Given the description of an element on the screen output the (x, y) to click on. 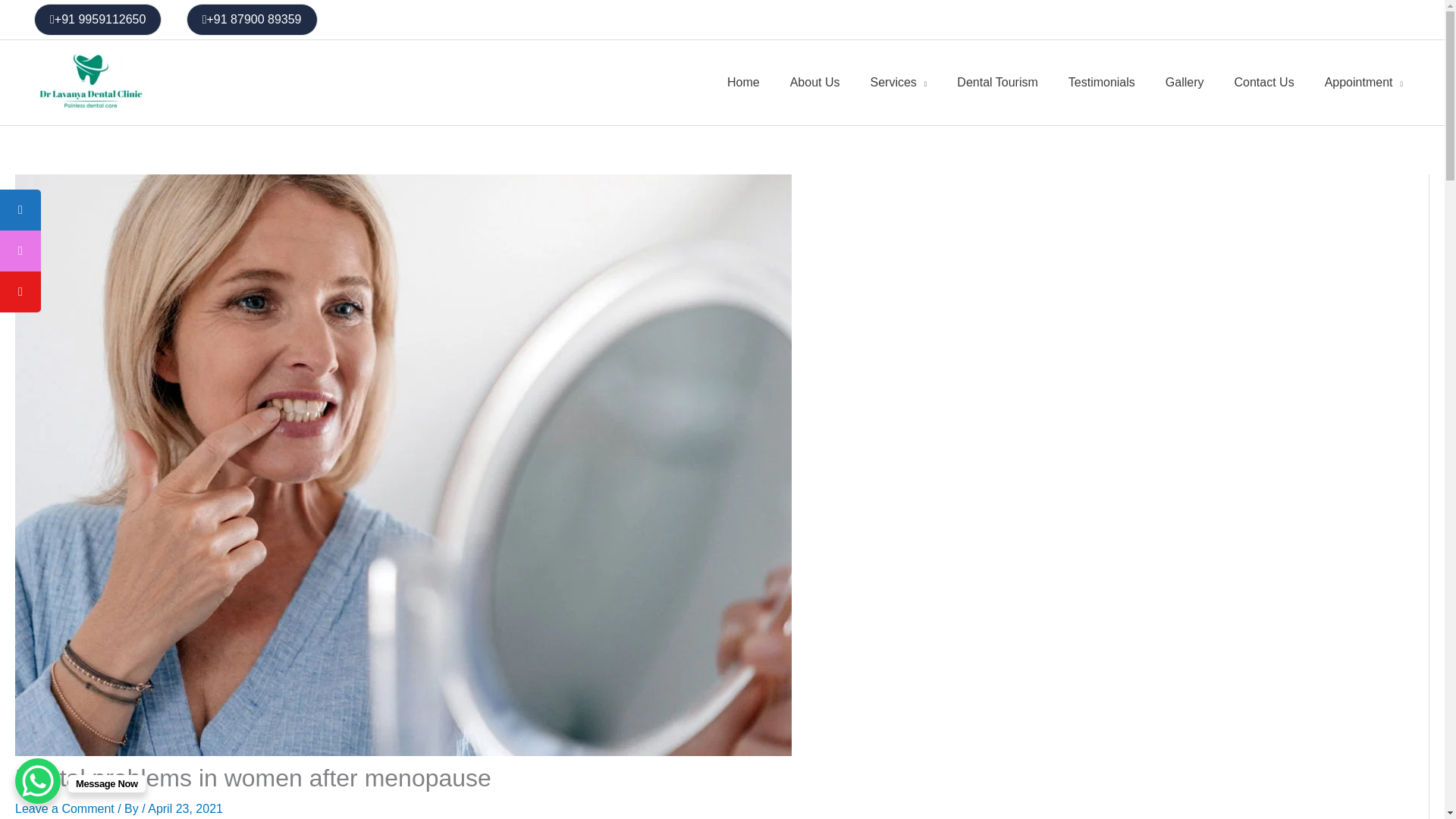
Contact Us (1264, 82)
Services (898, 82)
Testimonials (1101, 82)
About Us (815, 82)
Appointment (1363, 82)
Dental Tourism (997, 82)
Leave a Comment (64, 808)
